Given the description of an element on the screen output the (x, y) to click on. 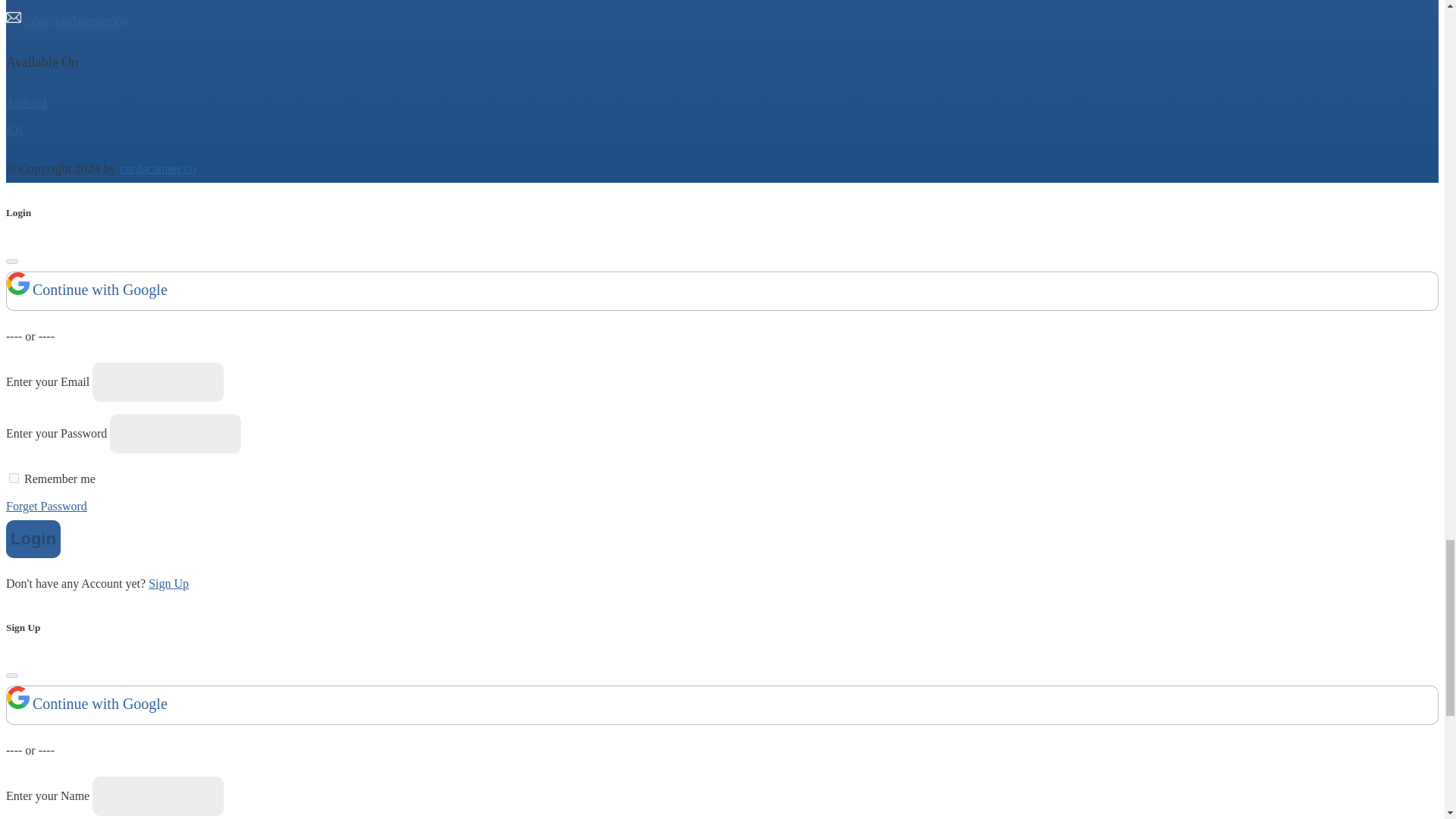
true (13, 478)
Contact Us (33, 0)
